Given the description of an element on the screen output the (x, y) to click on. 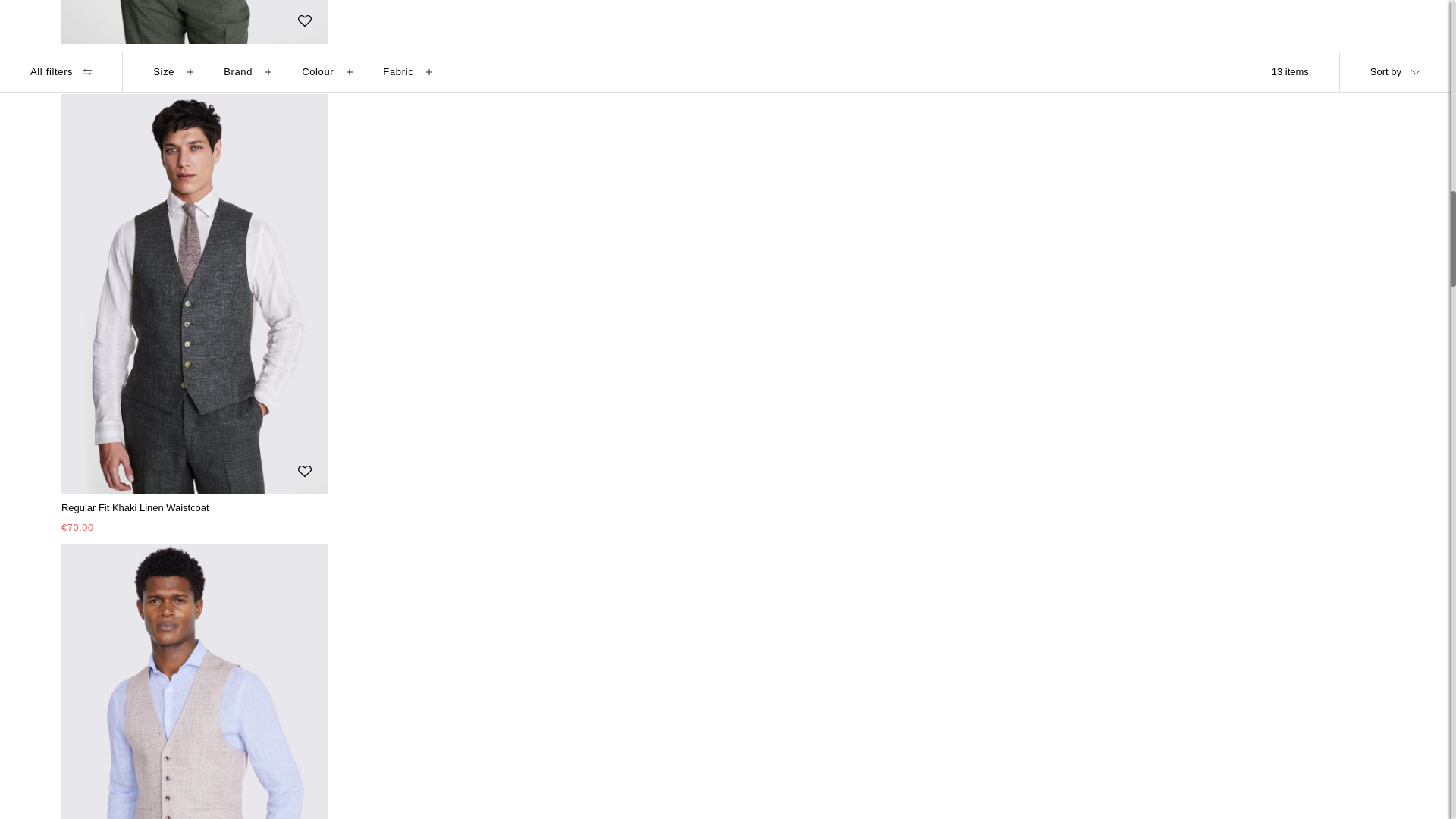
Regular Fit Khaki Linen Waistcoat 966850130 (195, 518)
Regular Fit Khaki Linen Waistcoat (195, 508)
Regular Fit Oatmeal Linen Waistcoat 966802903 (195, 681)
Regular Fit Green Puppytooth Waistcoat 966851012 (195, 22)
Regular Fit Green Puppytooth Waistcoat 966851012 (195, 68)
Regular Fit Green Puppytooth Waistcoat (195, 57)
